Given the description of an element on the screen output the (x, y) to click on. 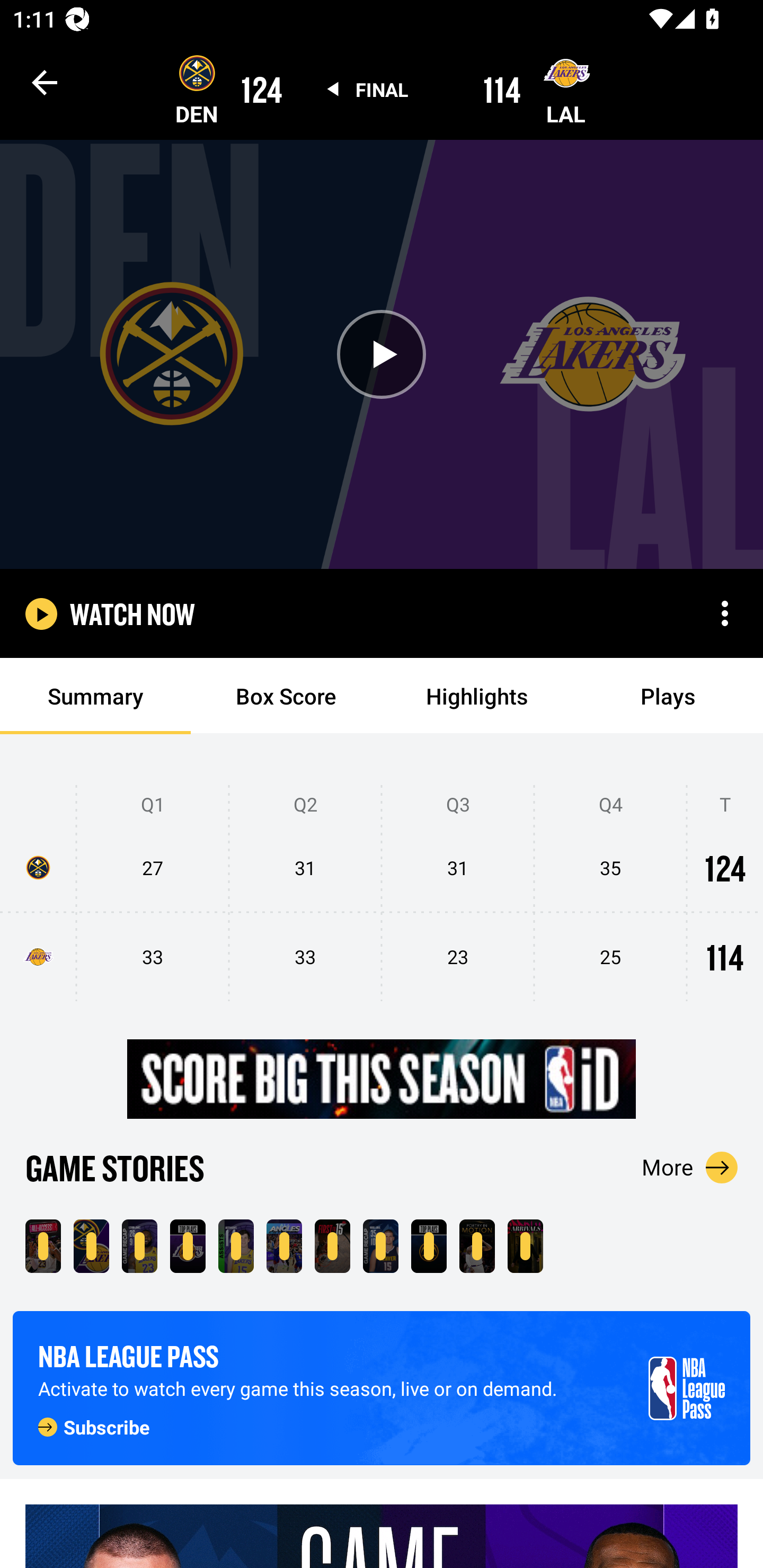
Navigate up (44, 82)
More options (724, 613)
WATCH NOW (132, 613)
Box Score (285, 695)
Highlights (476, 695)
Plays (667, 695)
Q1 Q2 Q3 Q4 T 27 31 31 35 124 33 33 23 25 114 (381, 893)
More (689, 1166)
NEW Inside LeBron's 40K Milestone On ABC 🎥 (43, 1246)
NEW DEN 124, LAL 114 - Mar 2 (91, 1246)
NEW Highlights From LeBron James' 26-Point Game (139, 1246)
NEW LAL's Top Plays from DEN vs. LAL (187, 1246)
NEW Highlights From Austin Reaves' 14-Assist Game (236, 1246)
All Angles Of LeBron's Historic Shot 👀 NEW (284, 1246)
First To 15 Mar. 2nd NEW (332, 1246)
Highlights From Nikola Jokic's 35-Point Game NEW (380, 1246)
DEN's Top Plays from DEN vs. LAL NEW (428, 1246)
LeBron's Historic Night In Slo-Mo 🎥 NEW (477, 1246)
Saturday's Arrivals 🔥 NEW (525, 1246)
